Given the description of an element on the screen output the (x, y) to click on. 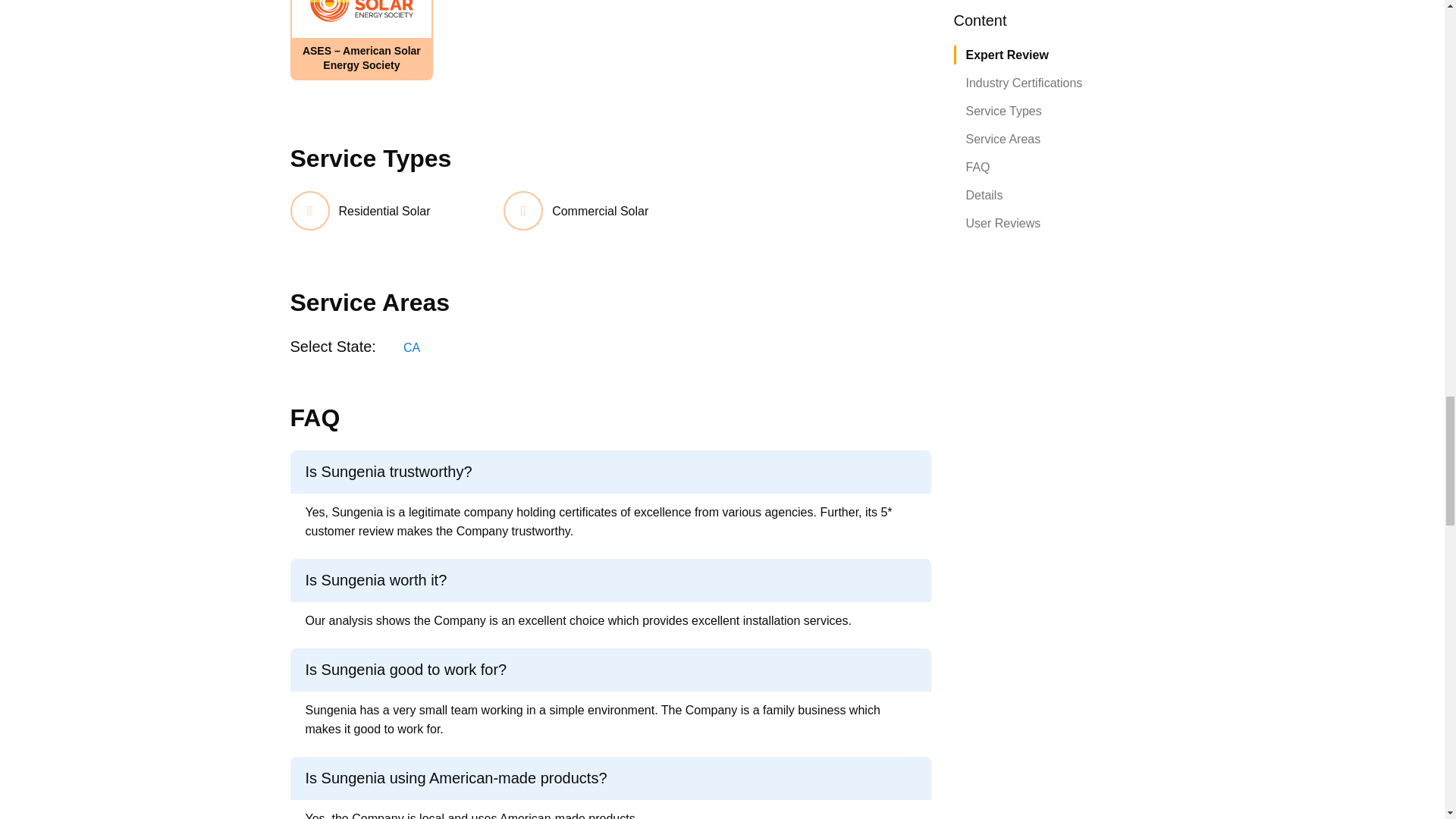
CA (411, 347)
